Given the description of an element on the screen output the (x, y) to click on. 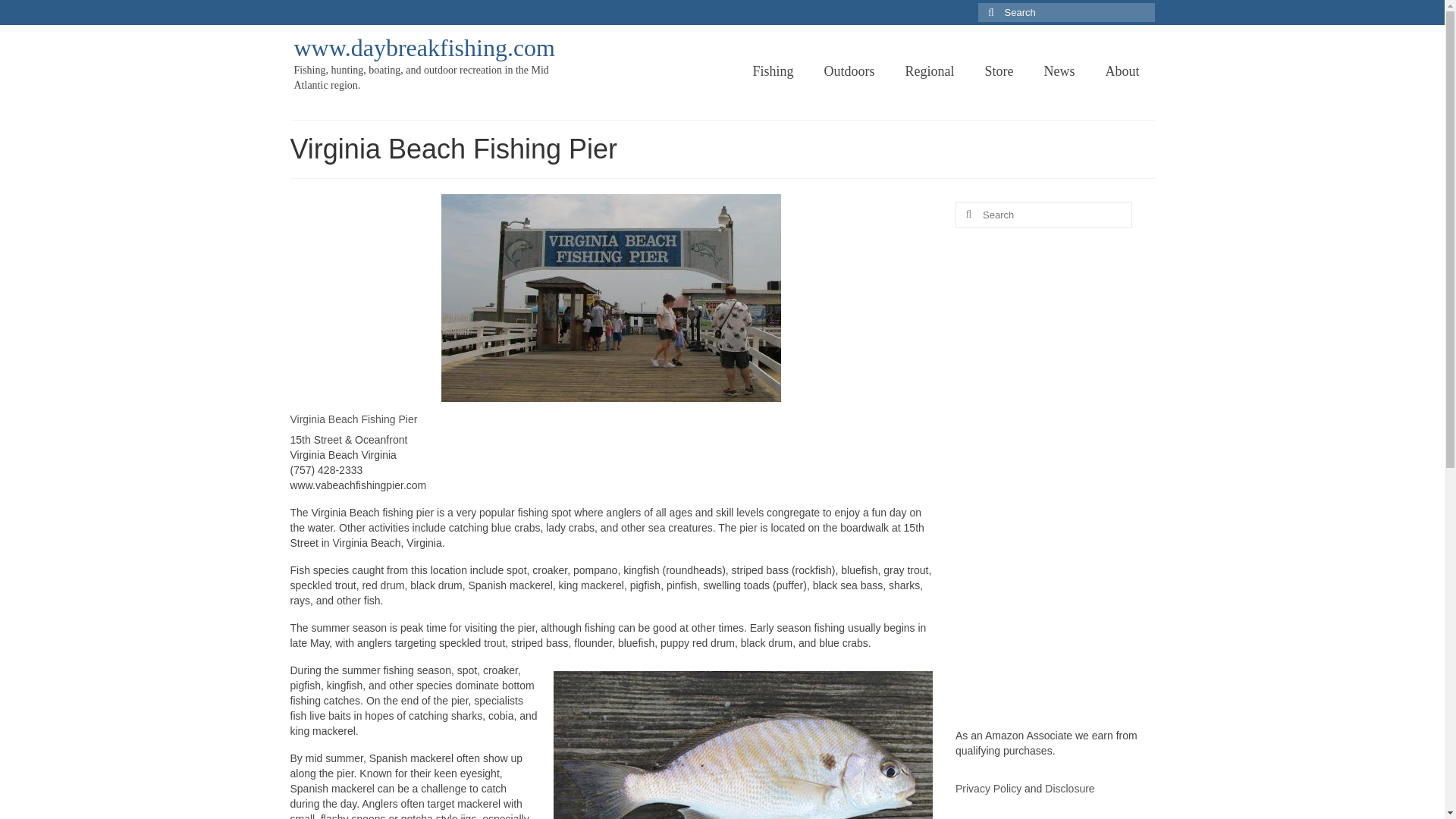
www.daybreakfishing.com (425, 47)
News (1058, 70)
Outdoors (848, 70)
Fishing (772, 70)
Store (998, 70)
Regional (929, 70)
About (1121, 70)
